Given the description of an element on the screen output the (x, y) to click on. 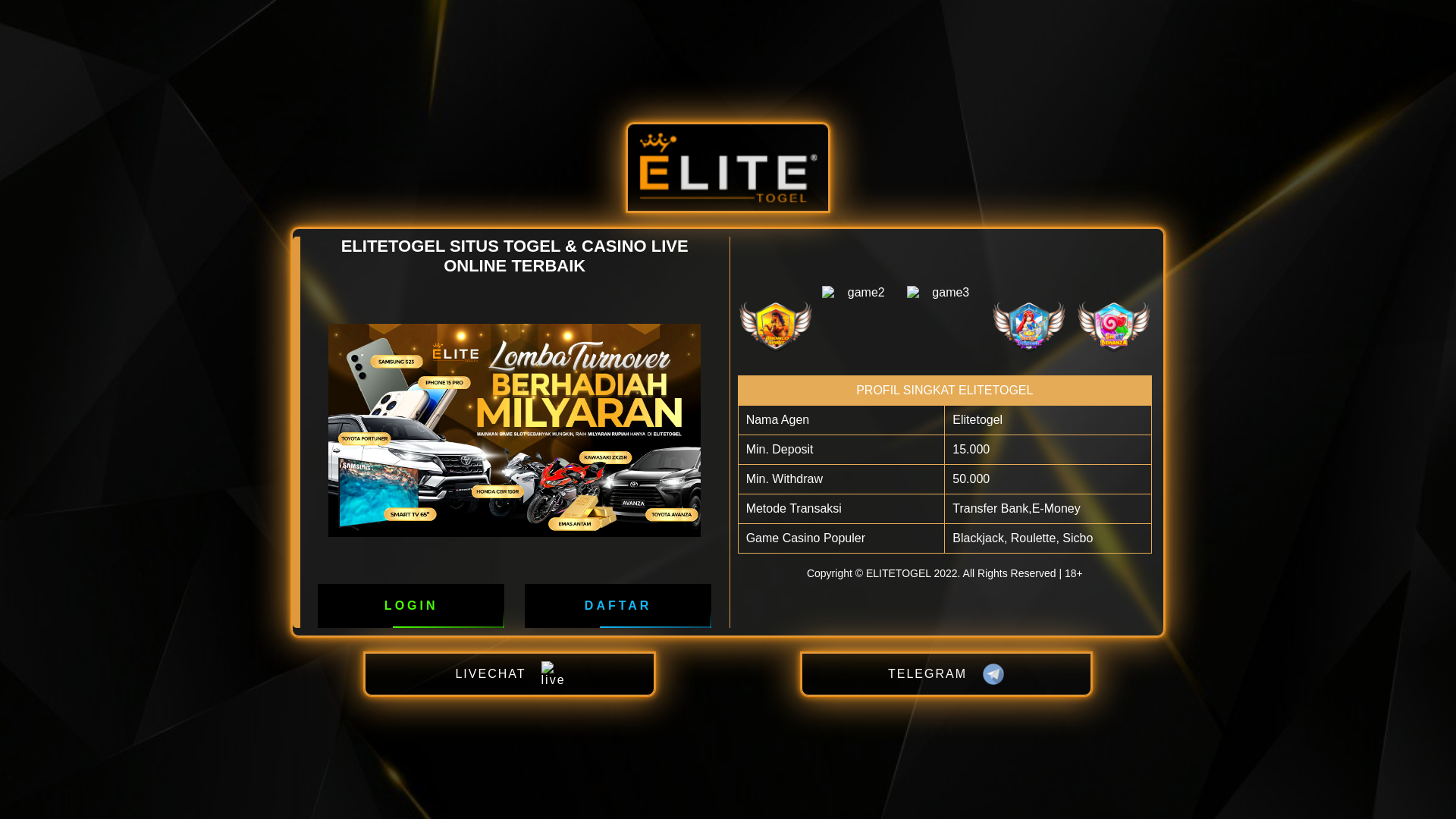
TELEGRAM Element type: text (946, 674)
LOGIN Element type: text (410, 605)
LIVECHAT Element type: text (509, 674)
DAFTAR Element type: text (617, 605)
